Given the description of an element on the screen output the (x, y) to click on. 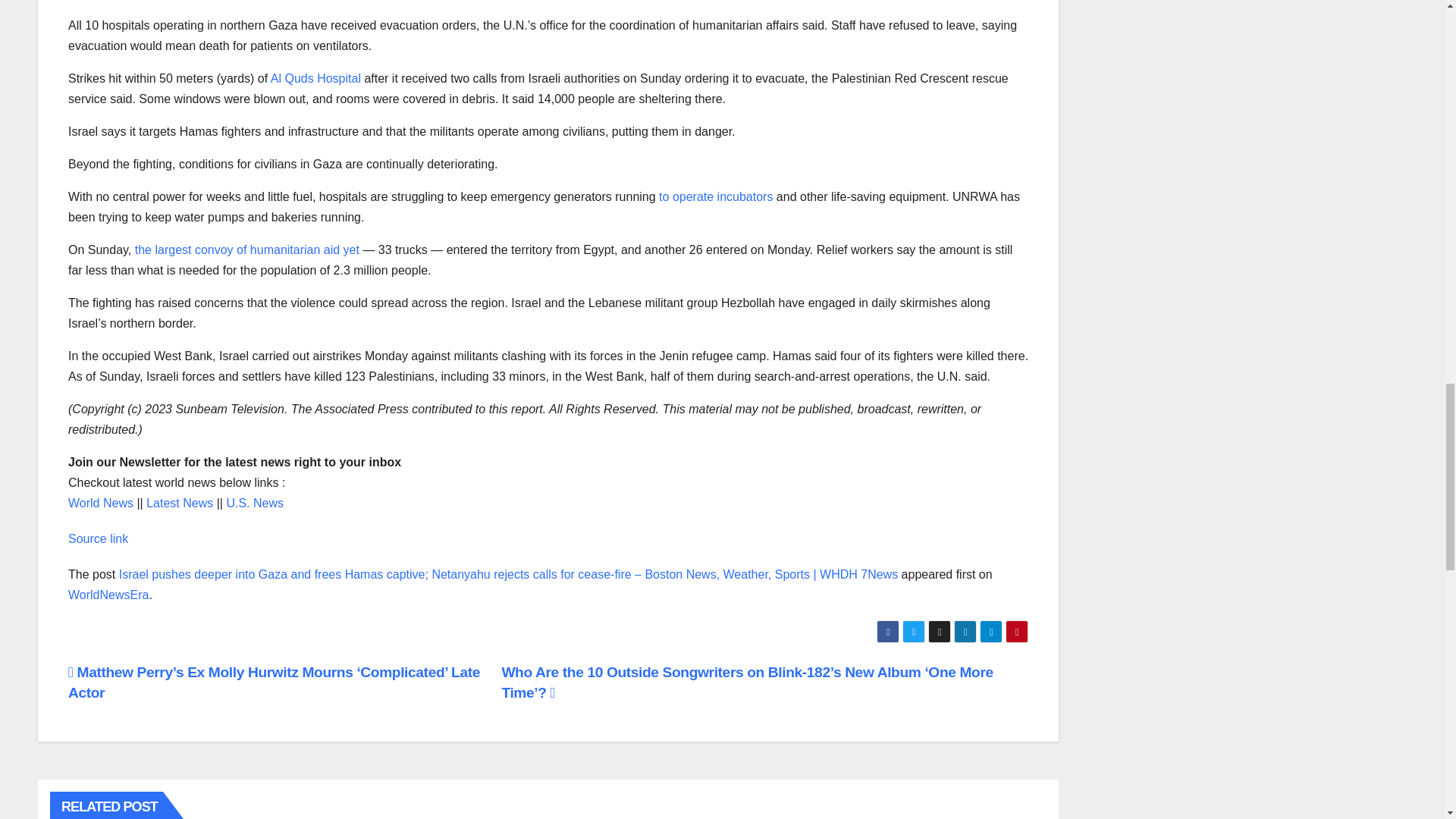
WorldNewsEra (108, 594)
Source link (98, 538)
the largest convoy of humanitarian aid yet (247, 249)
to operate incubators (716, 196)
Latest News (179, 502)
U.S. News (254, 502)
World News (100, 502)
Al Quds Hospital (315, 78)
